Given the description of an element on the screen output the (x, y) to click on. 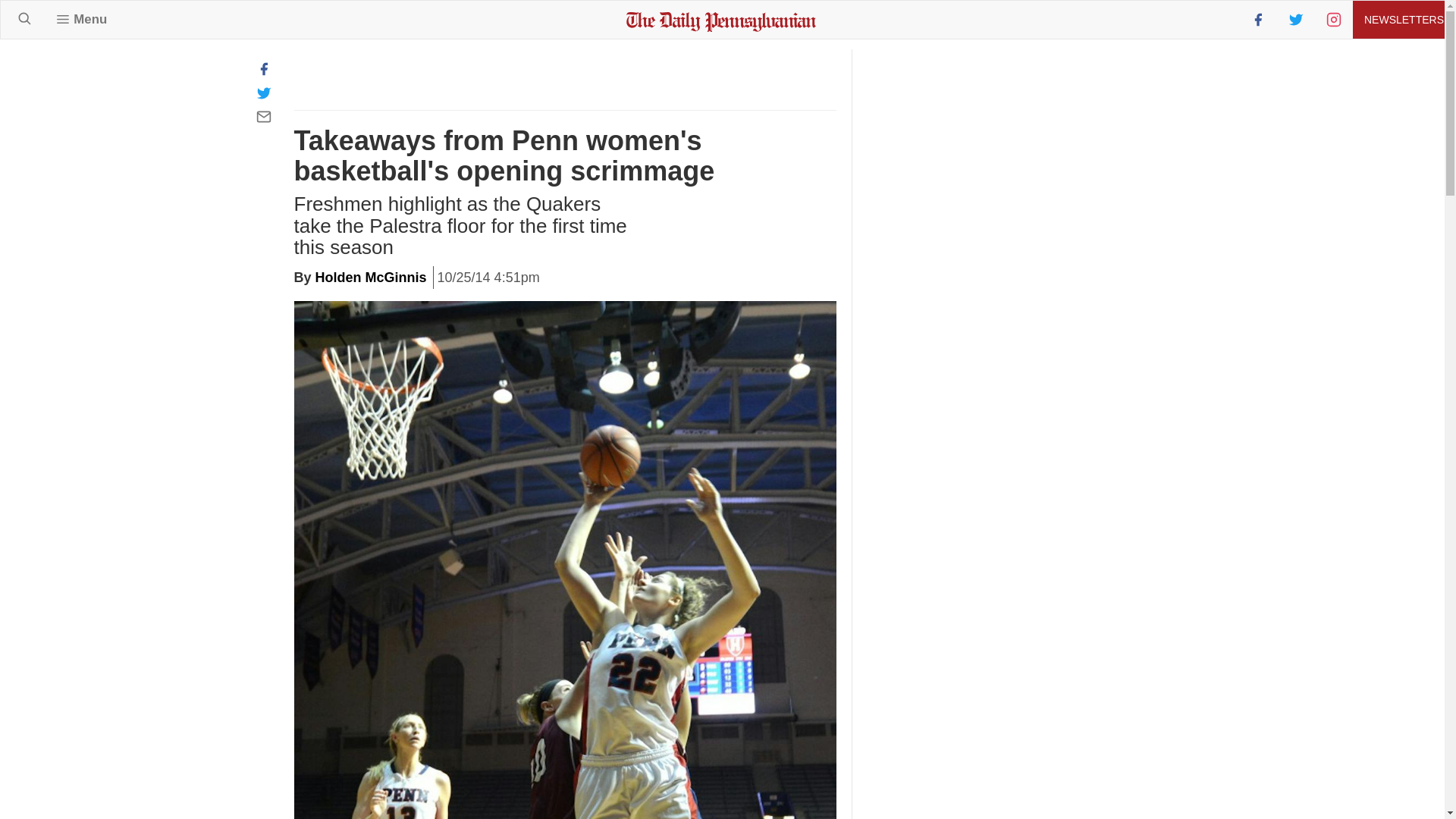
3rd party ad content (982, 523)
Menu (81, 18)
